Given the description of an element on the screen output the (x, y) to click on. 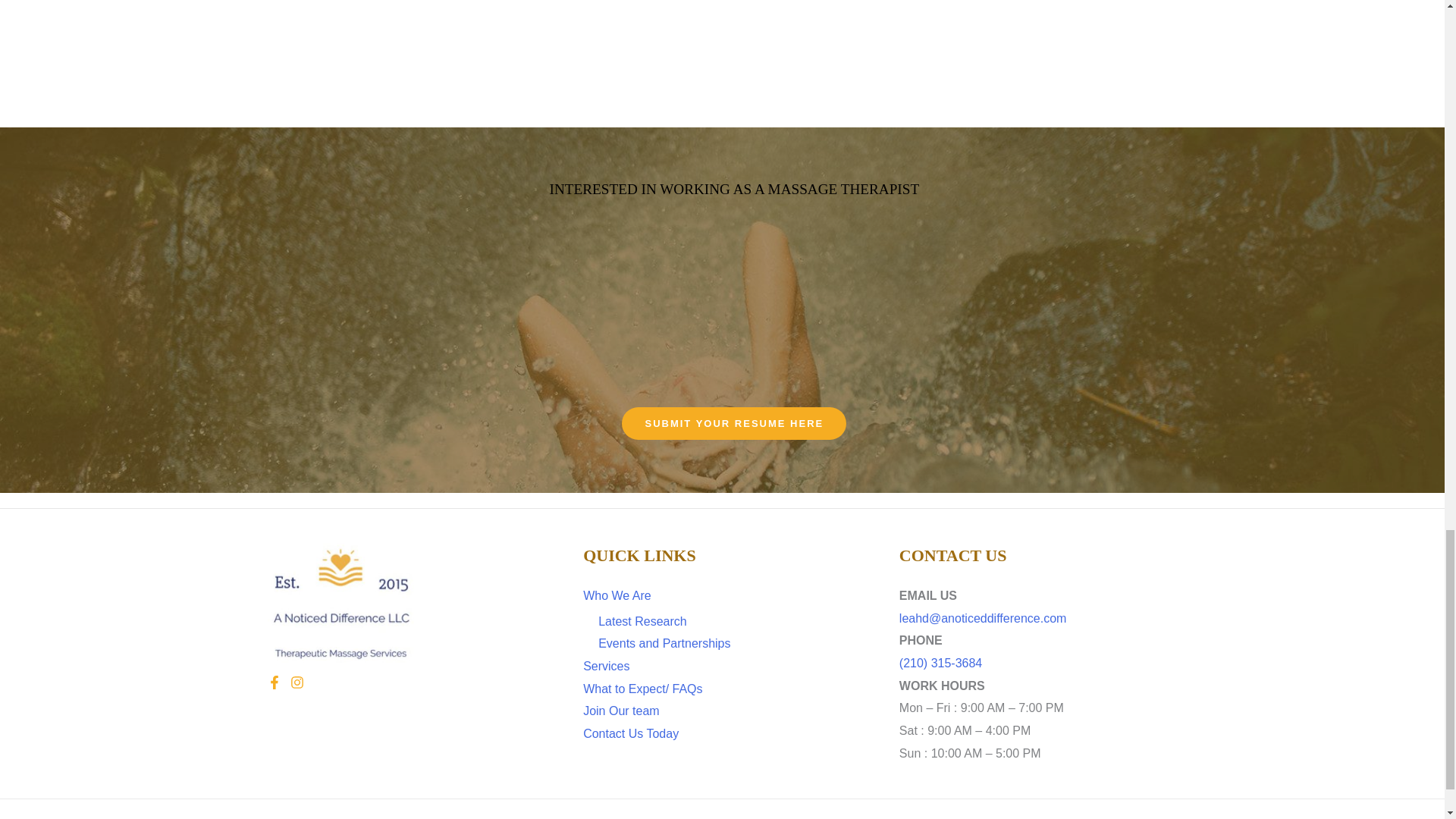
SUBMIT YOUR RESUME HERE (733, 423)
Events and Partnerships (664, 643)
Services (605, 666)
Latest Research (642, 621)
Join Our team (621, 710)
Contact Us Today (630, 733)
Who We Are (616, 594)
